Given the description of an element on the screen output the (x, y) to click on. 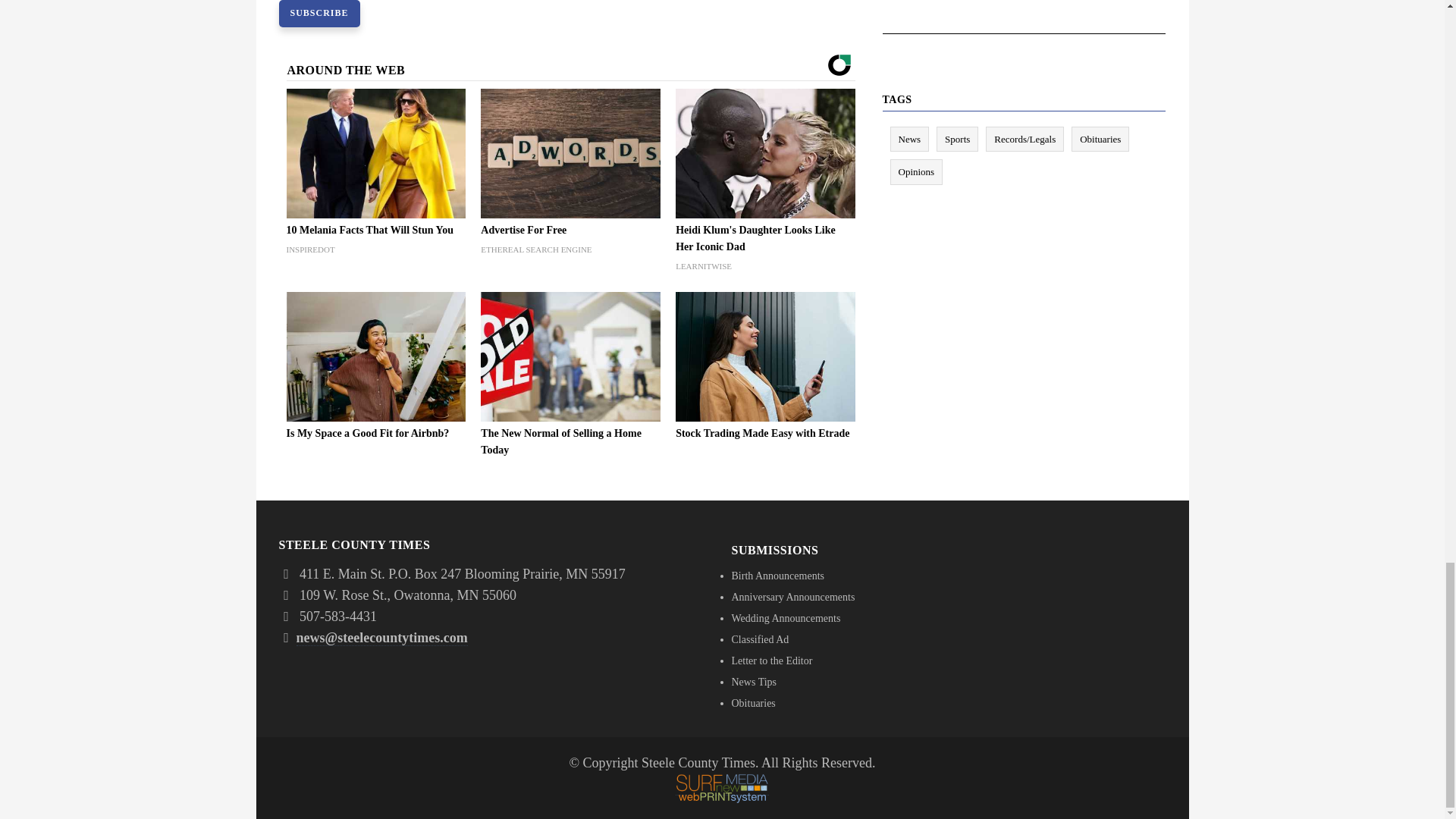
Subscribe (319, 13)
